Given the description of an element on the screen output the (x, y) to click on. 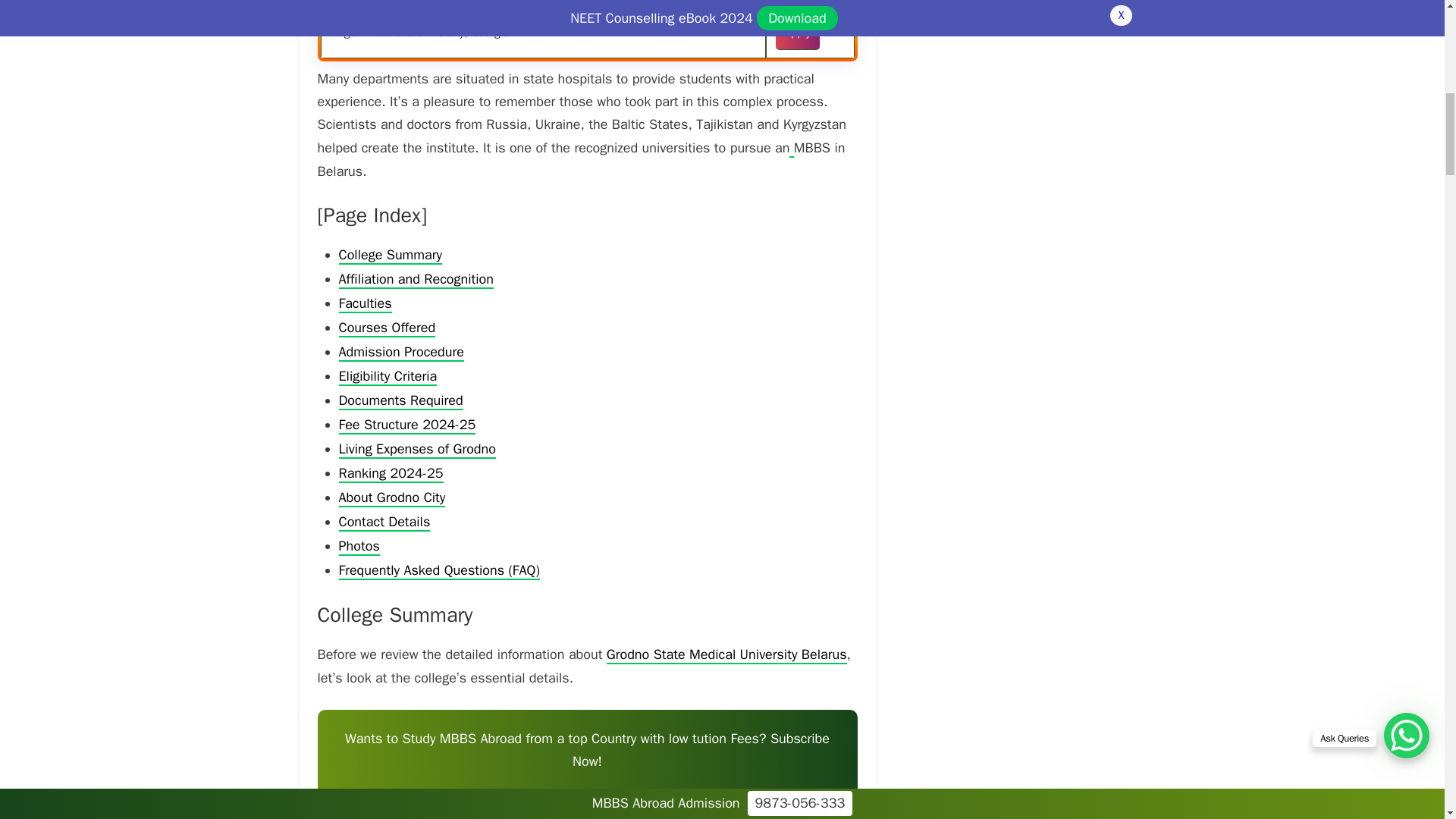
Scroll back to top (1406, 720)
